Given the description of an element on the screen output the (x, y) to click on. 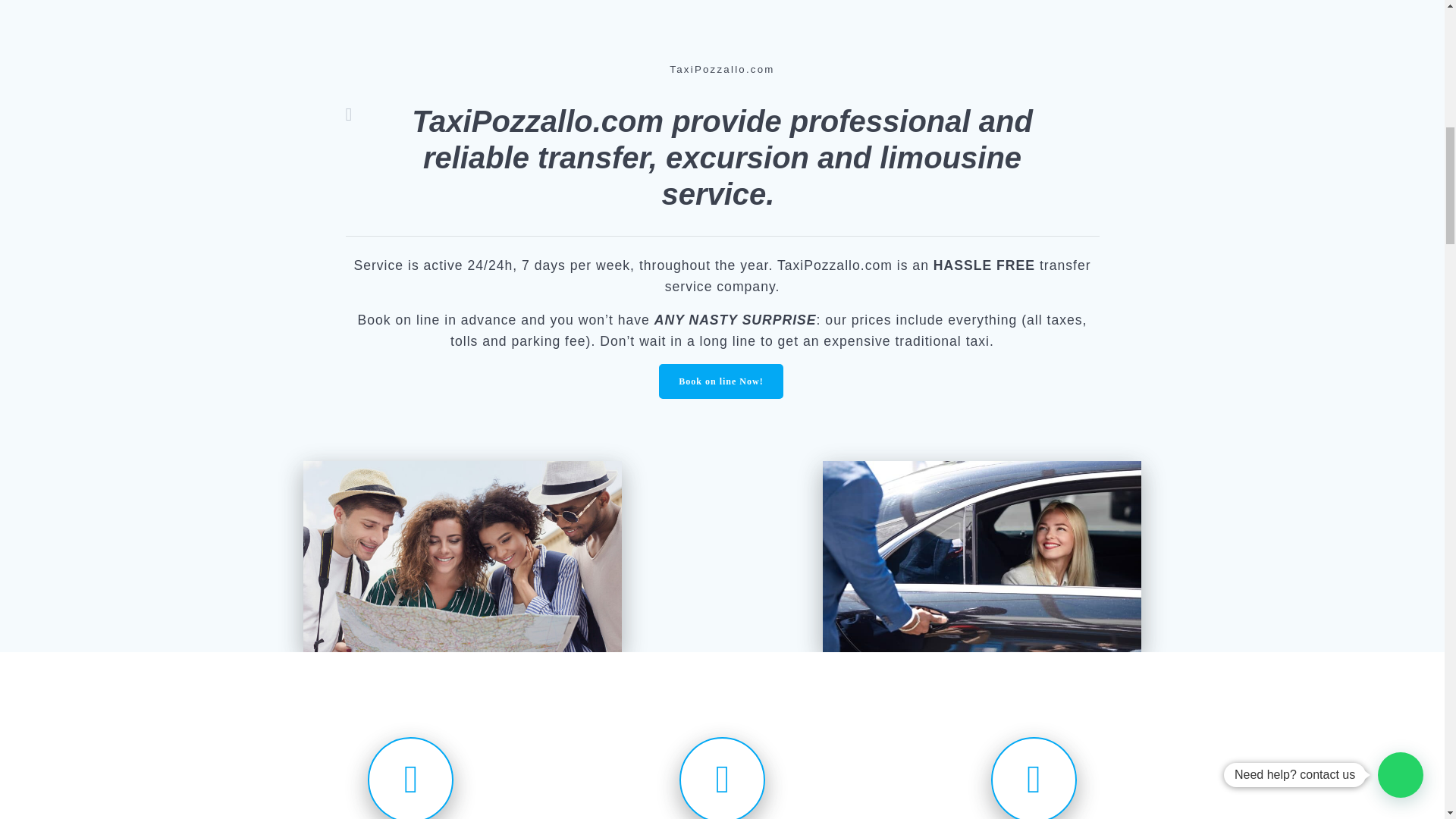
Book on line Now! (721, 380)
cropped-privatedriverCatania-1.jpg (981, 556)
